Given the description of an element on the screen output the (x, y) to click on. 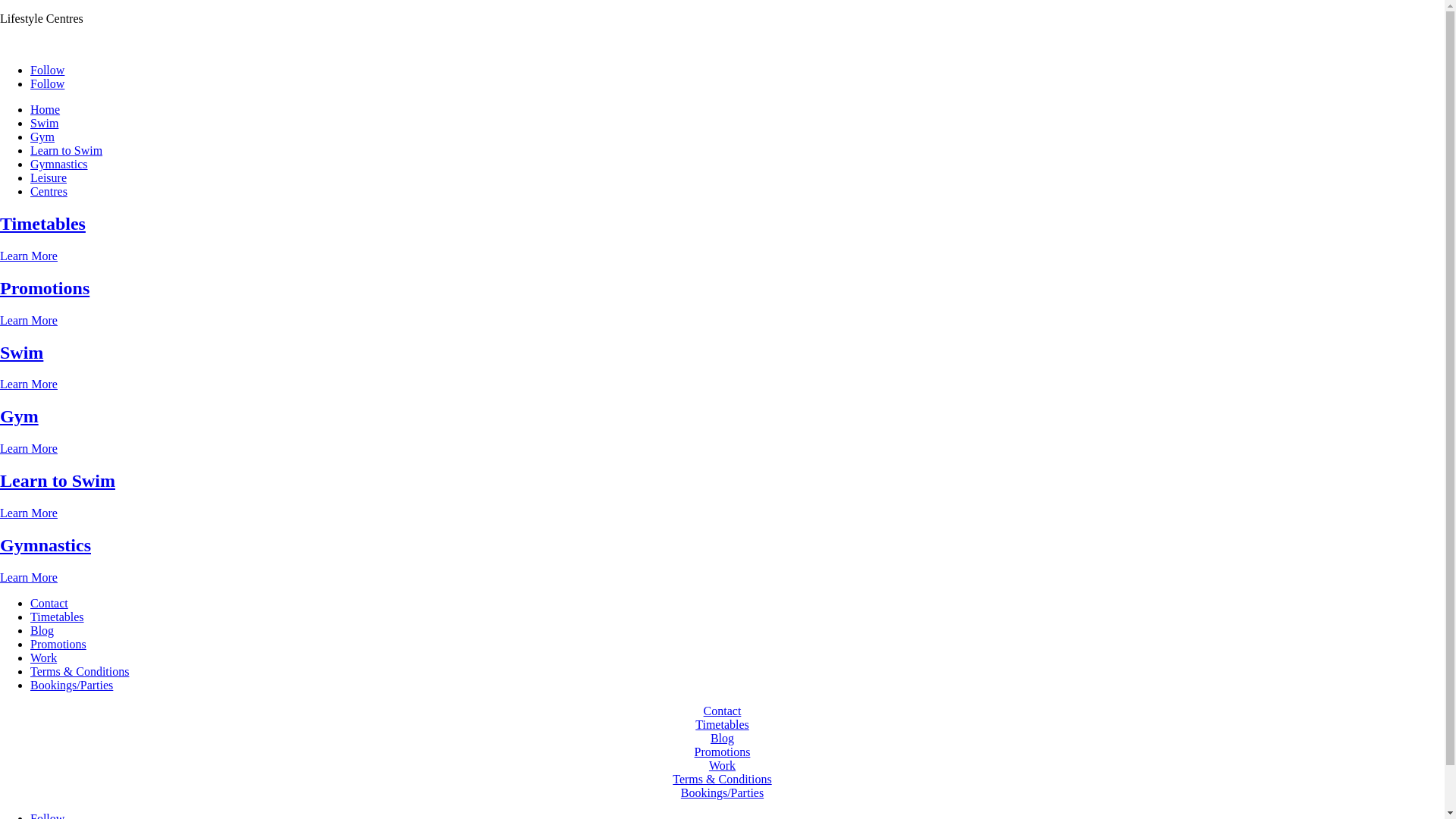
Promotions Element type: text (44, 288)
Timetables Element type: text (722, 724)
Swim Element type: text (44, 122)
Gymnastics Element type: text (45, 545)
Terms & Conditions Element type: text (79, 671)
Learn More Element type: text (28, 319)
Work Element type: text (722, 765)
Swim Element type: text (21, 352)
Contact Element type: text (49, 602)
Gym Element type: text (42, 136)
Learn More Element type: text (28, 255)
Bookings/Parties Element type: text (721, 792)
Centres Element type: text (48, 191)
Gymnastics Element type: text (58, 163)
Follow Element type: text (47, 69)
Terms & Conditions Element type: text (721, 778)
Learn to Swim Element type: text (57, 480)
Learn More Element type: text (28, 512)
Gym Element type: text (19, 416)
Promotions Element type: text (722, 751)
Learn More Element type: text (28, 383)
Timetables Element type: text (42, 223)
Leisure Element type: text (48, 177)
Promotions Element type: text (58, 643)
Bookings/Parties Element type: text (71, 684)
Contact Element type: text (722, 710)
Learn to Swim Element type: text (66, 150)
Blog Element type: text (41, 630)
Follow Element type: text (47, 83)
Blog Element type: text (722, 737)
Home Element type: text (44, 109)
Timetables Element type: text (57, 616)
Work Element type: text (43, 657)
Learn More Element type: text (28, 577)
Learn More Element type: text (28, 448)
